Given the description of an element on the screen output the (x, y) to click on. 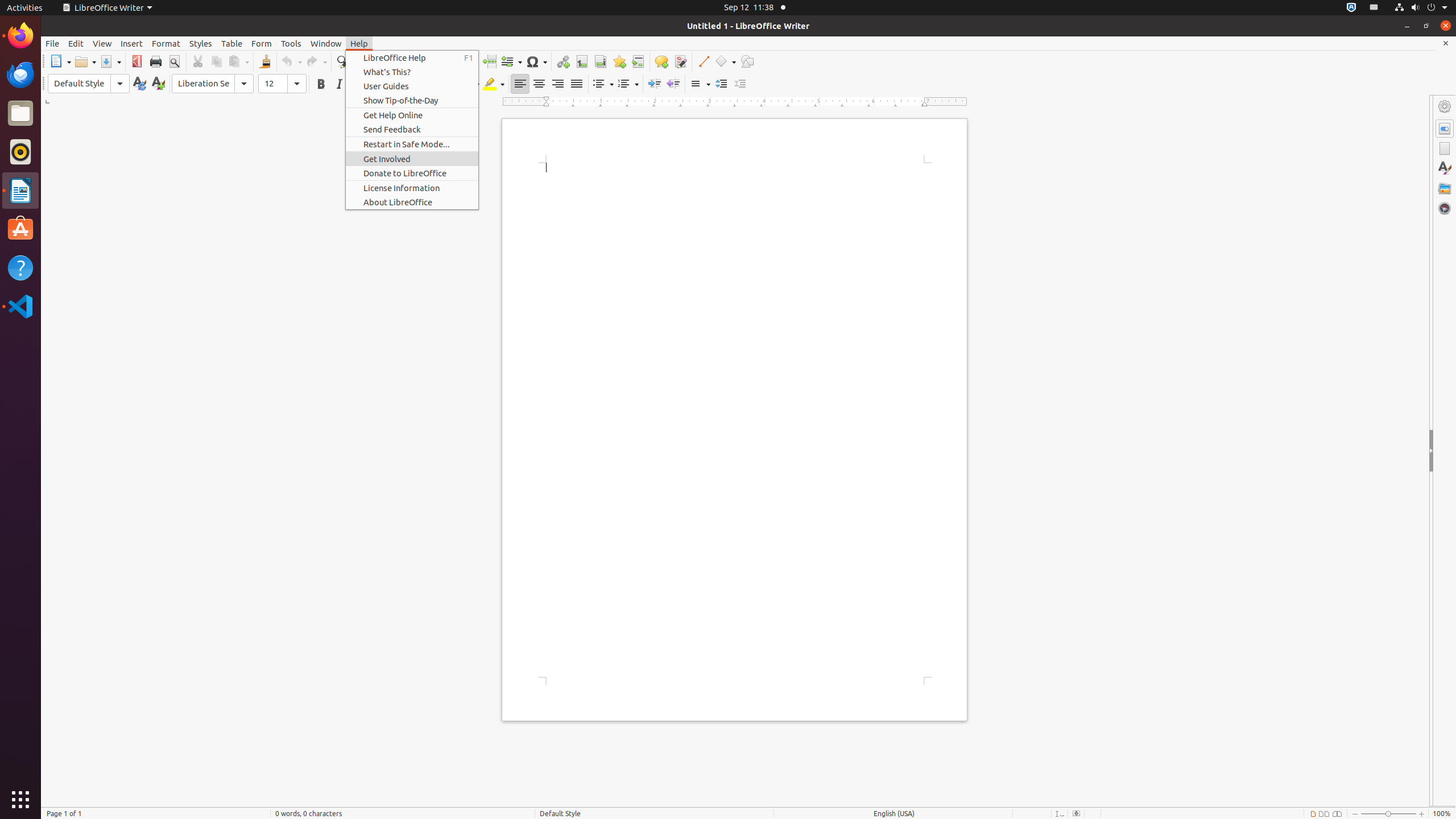
Form Element type: menu (261, 43)
Cut Element type: push-button (197, 61)
Properties Element type: radio-button (1444, 128)
System Element type: menu (1420, 7)
Donate to LibreOffice Element type: menu-item (411, 173)
